Given the description of an element on the screen output the (x, y) to click on. 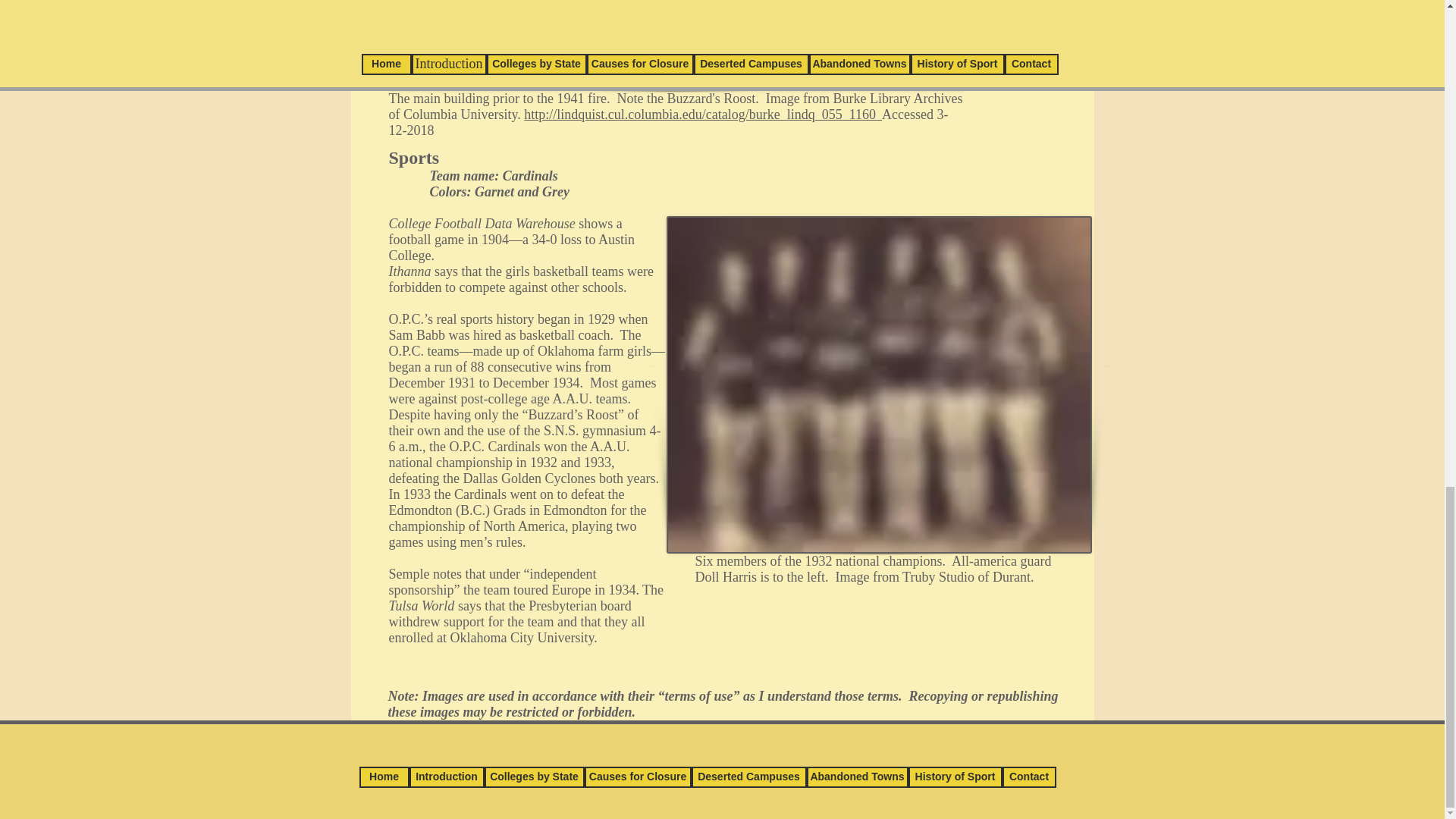
Introduction (446, 776)
History of Sport (955, 776)
Colleges by State (533, 776)
Accessed 3-12-2018 (667, 122)
Abandoned Towns (857, 776)
Causes for Closure (636, 776)
Contact (1030, 776)
Home (384, 776)
Deserted Campuses (748, 776)
